Given the description of an element on the screen output the (x, y) to click on. 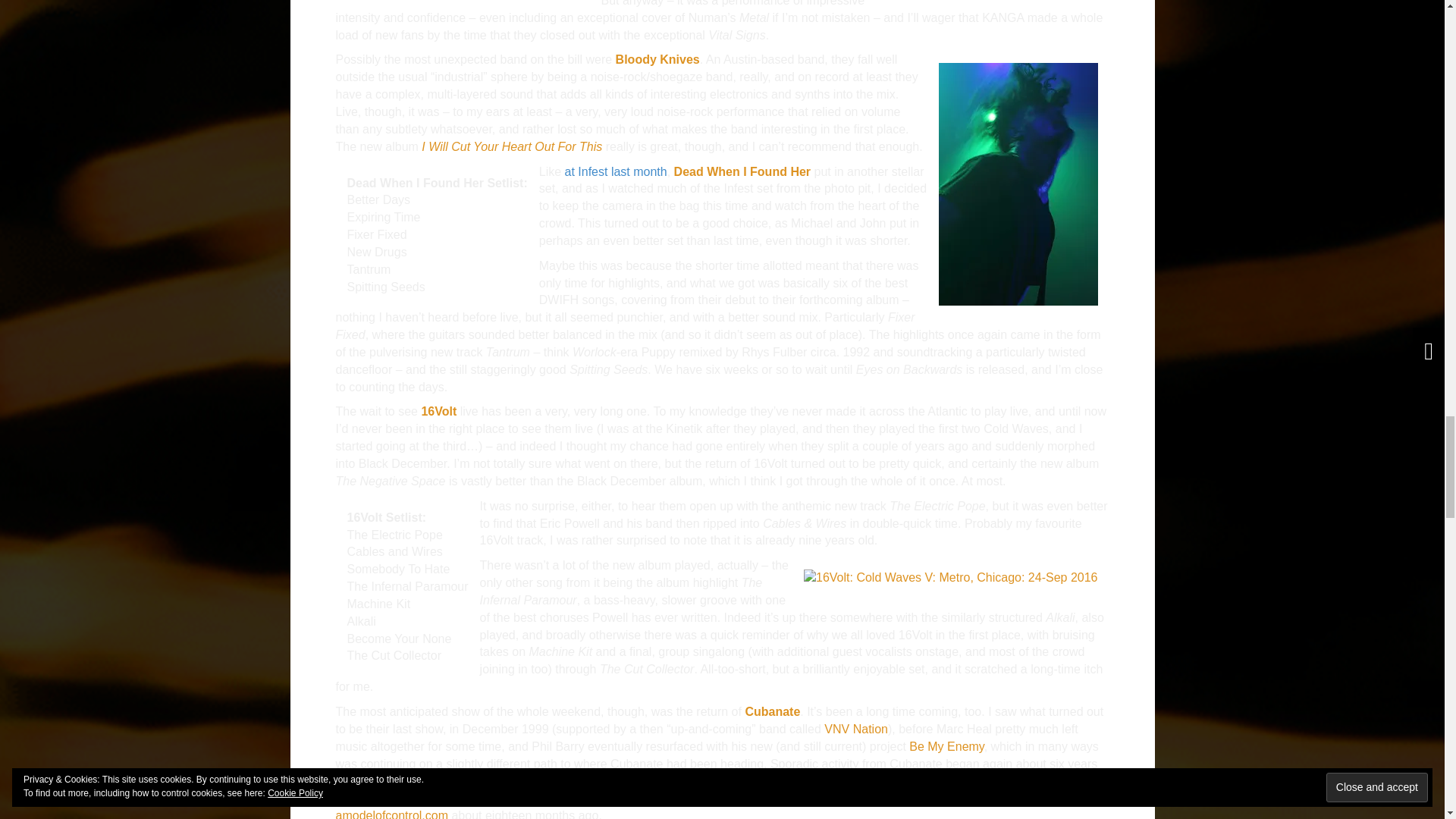
16Volt: Cold Waves V: Metro, Chicago: 24-Sep 2016 (950, 576)
Bloody Knives: Cold Waves V: Metro, Chicago: 24-Sep 2016 (1018, 183)
